Given the description of an element on the screen output the (x, y) to click on. 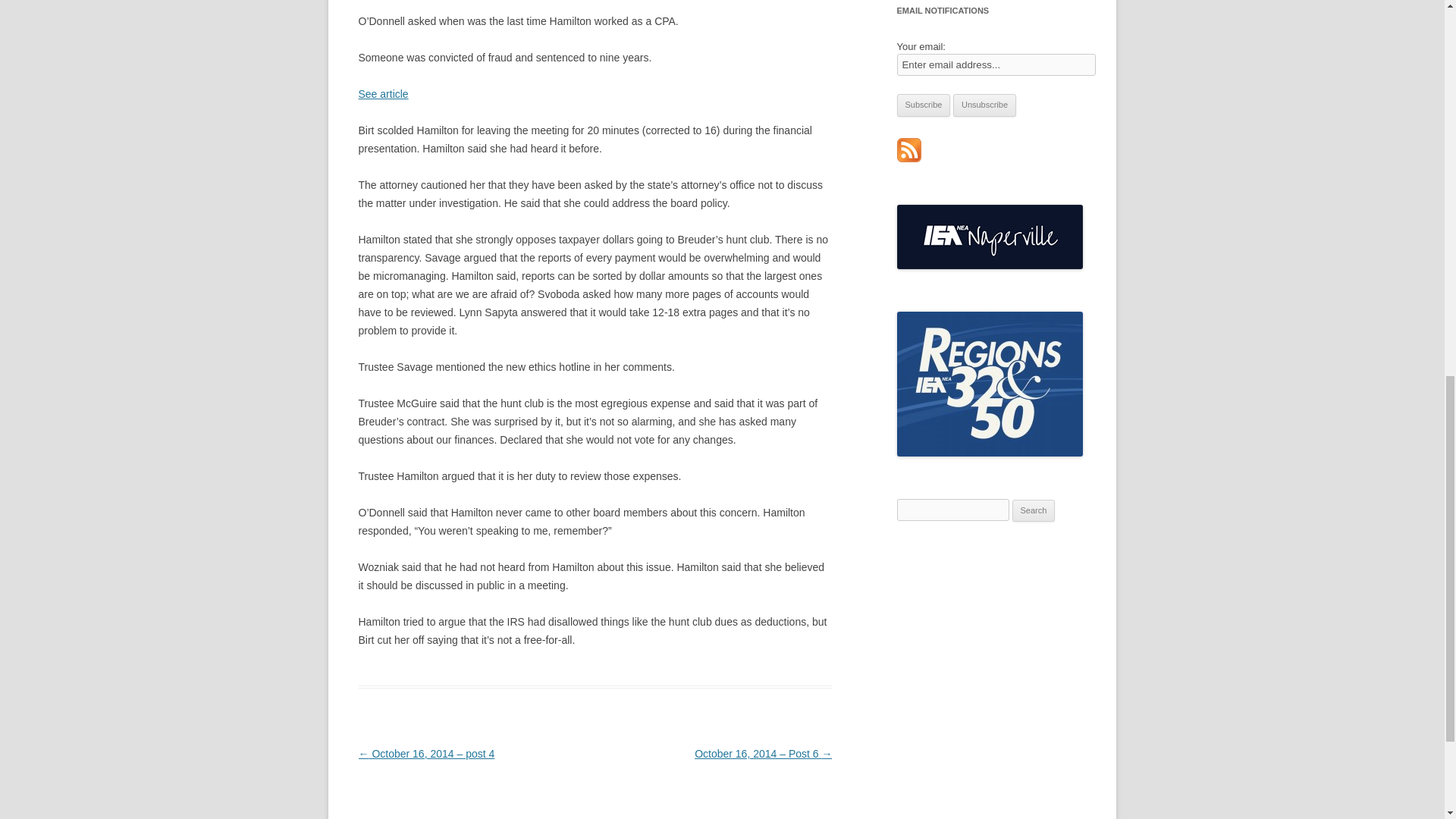
Unsubscribe (984, 105)
Unsubscribe (984, 105)
Search (1033, 510)
Search (1033, 510)
See article (382, 93)
Enter email address... (996, 65)
Subscribe (923, 105)
Subscribe (923, 105)
